Given the description of an element on the screen output the (x, y) to click on. 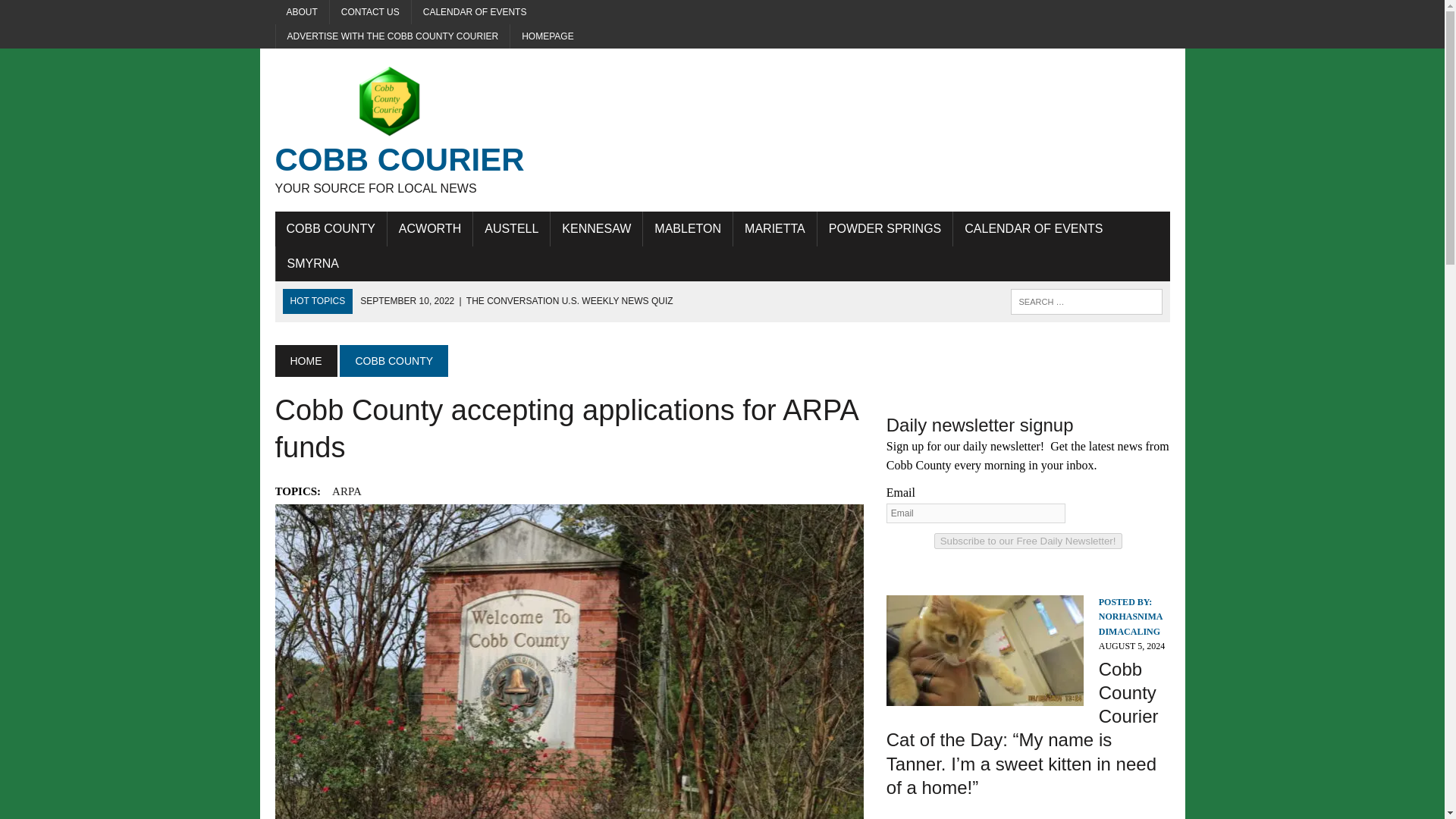
CALENDAR OF EVENTS (1033, 228)
Cobb  Courier (416, 129)
ARPA (346, 491)
SMYRNA (313, 263)
MARIETTA (774, 228)
ADVERTISE WITH THE COBB COUNTY COURIER (393, 36)
CALENDAR OF EVENTS (475, 12)
KENNESAW (596, 228)
Search (75, 14)
MABLETON (687, 228)
AUSTELL (511, 228)
HOME (305, 360)
ACWORTH (429, 228)
COBB COUNTY (393, 360)
